Given the description of an element on the screen output the (x, y) to click on. 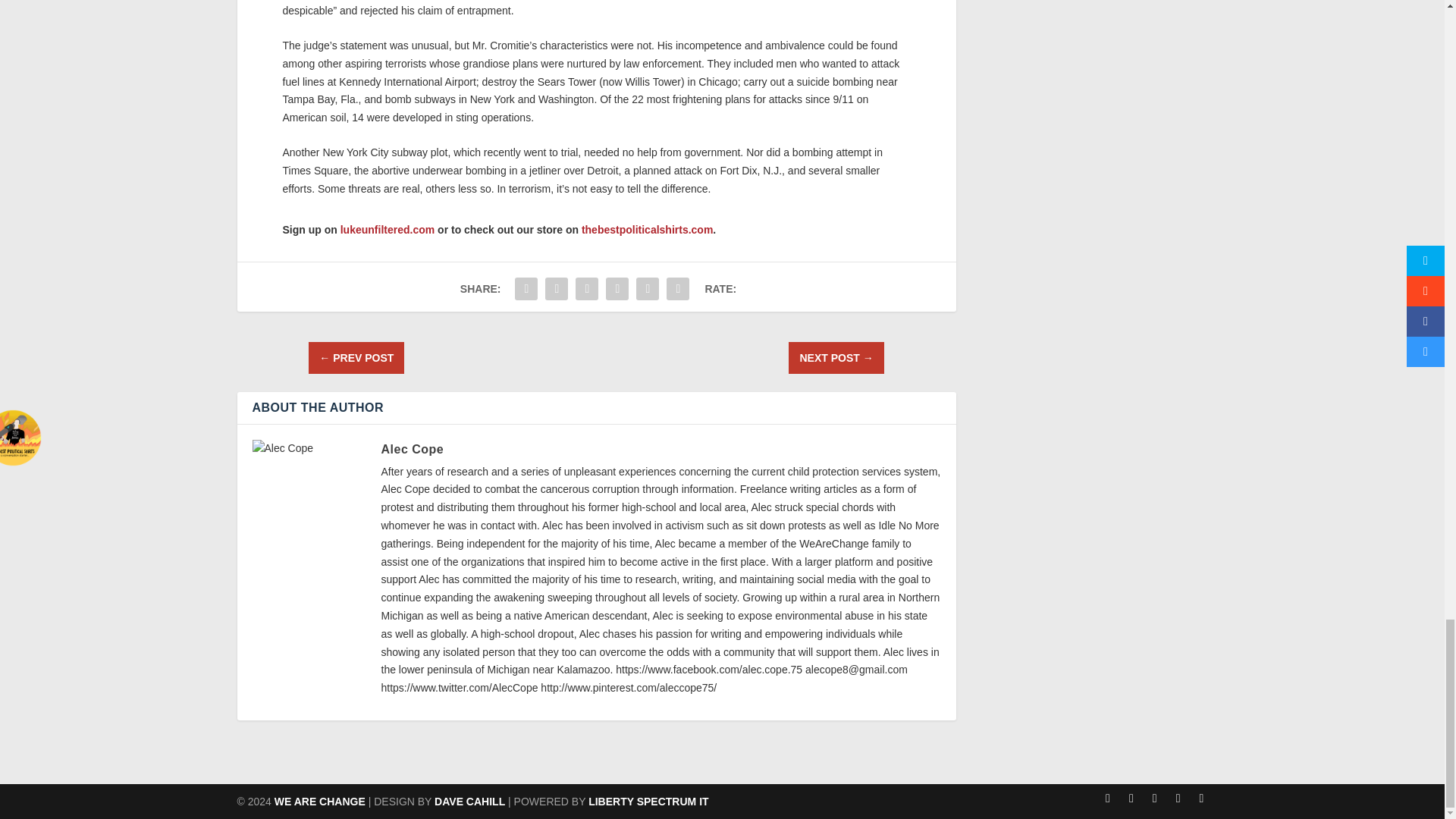
View all posts by Alec Cope (412, 449)
Share "Terrorist Plots, Hatched by the F.B.I." via Email (677, 288)
Share "Terrorist Plots, Hatched by the F.B.I." via Tumblr (587, 288)
Share "Terrorist Plots, Hatched by the F.B.I." via Twitter (556, 288)
Share "Terrorist Plots, Hatched by the F.B.I." via Facebook (526, 288)
We Are Change (320, 801)
Share "Terrorist Plots, Hatched by the F.B.I." via Pinterest (616, 288)
lukeunfiltered.com (386, 229)
DivDav (469, 801)
